Given the description of an element on the screen output the (x, y) to click on. 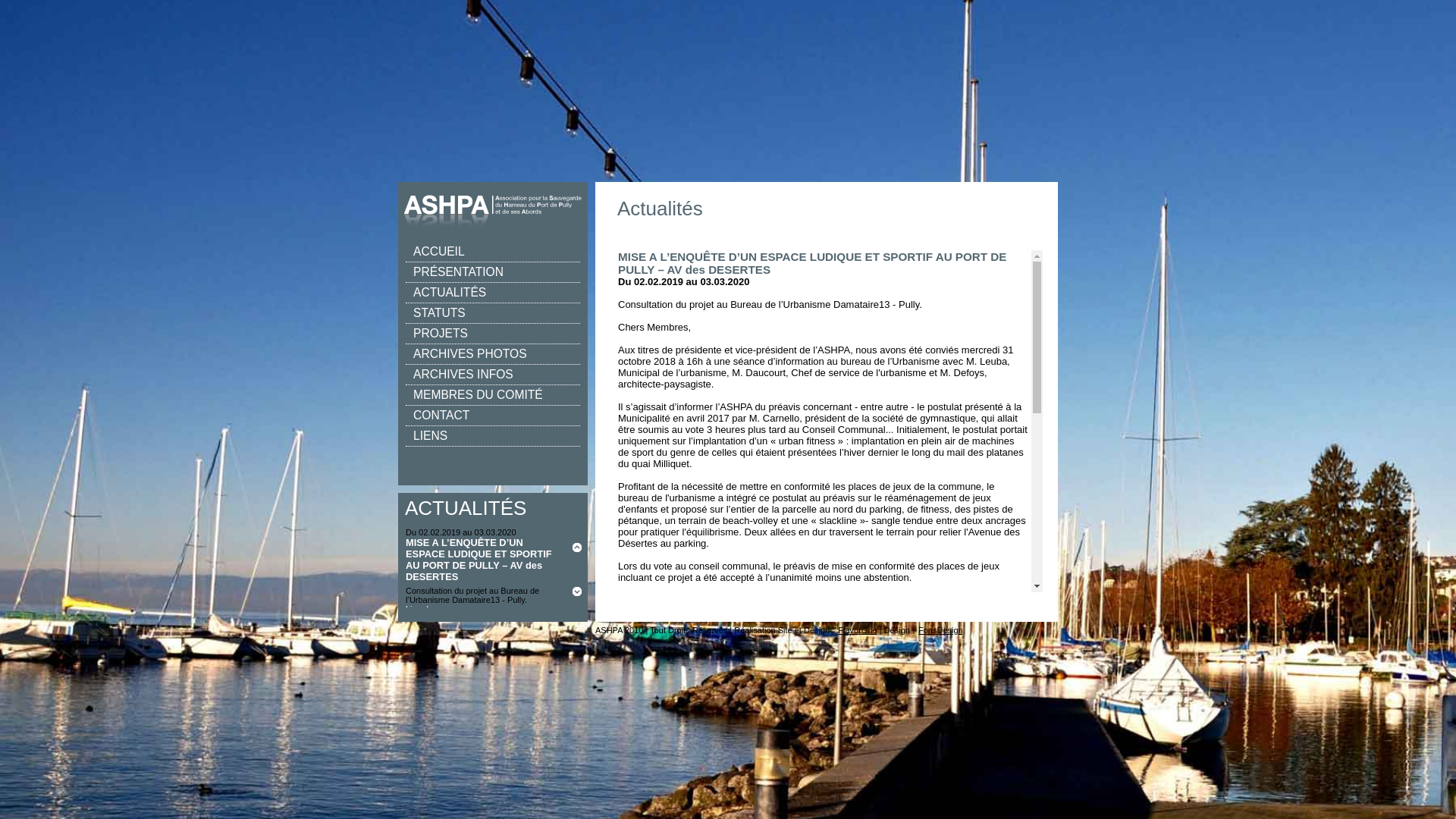
Lire plus Element type: text (421, 608)
ARCHIVES INFOS Element type: text (492, 374)
STATUTS Element type: text (492, 313)
ARCHIVES PHOTOS Element type: text (492, 354)
ACCUEIL Element type: text (492, 222)
FonsDesign Element type: text (938, 629)
CONTACT Element type: text (492, 415)
FlavorOne Element type: text (855, 629)
PROJETS Element type: text (492, 333)
LIENS Element type: text (492, 436)
